Given the description of an element on the screen output the (x, y) to click on. 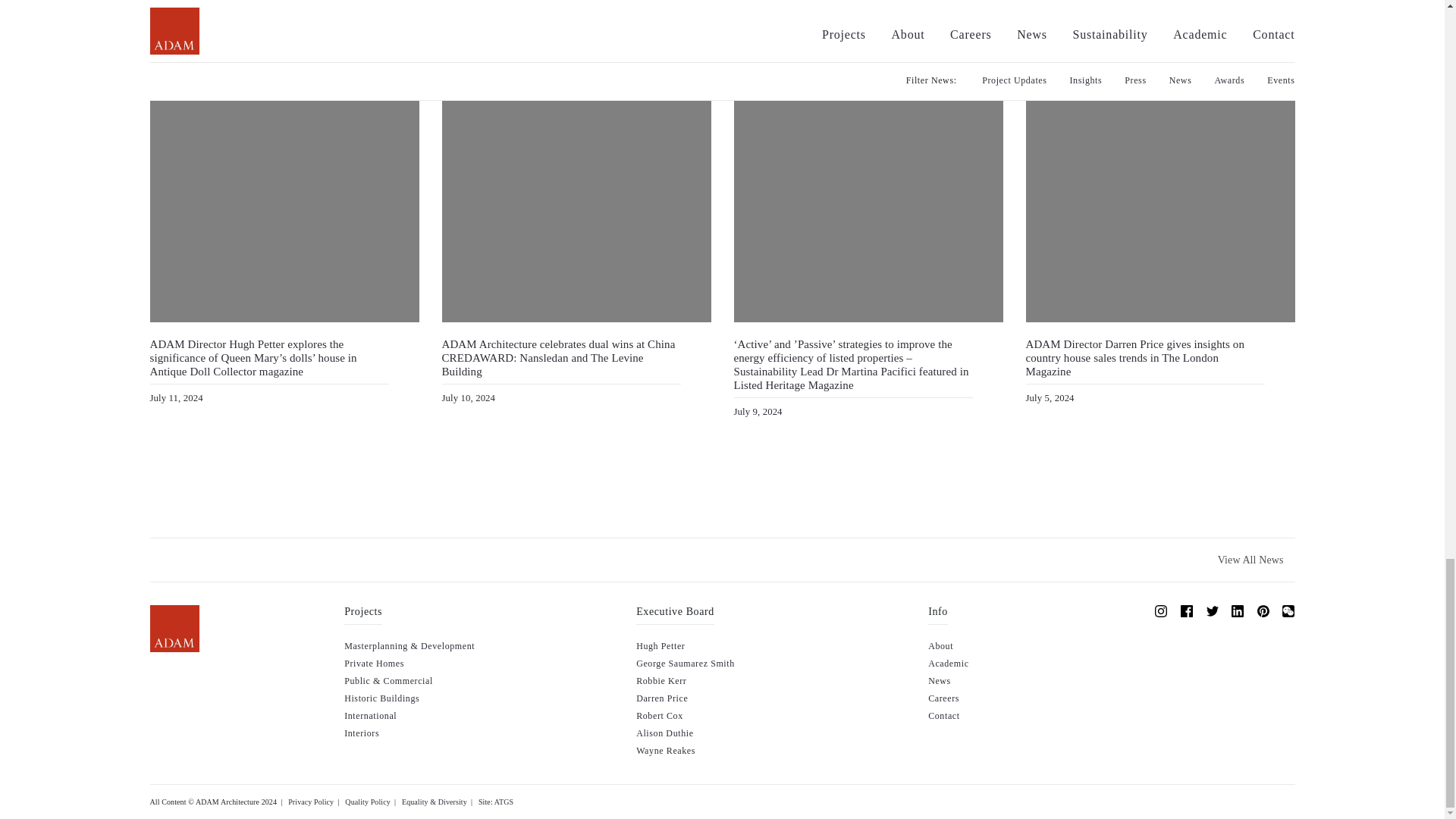
Historic Buildings (381, 697)
View All News (1251, 559)
Robert Cox (659, 715)
Hugh Petter (660, 645)
International (369, 715)
Alison Duthie (664, 733)
Interiors (360, 733)
International (369, 715)
